Given the description of an element on the screen output the (x, y) to click on. 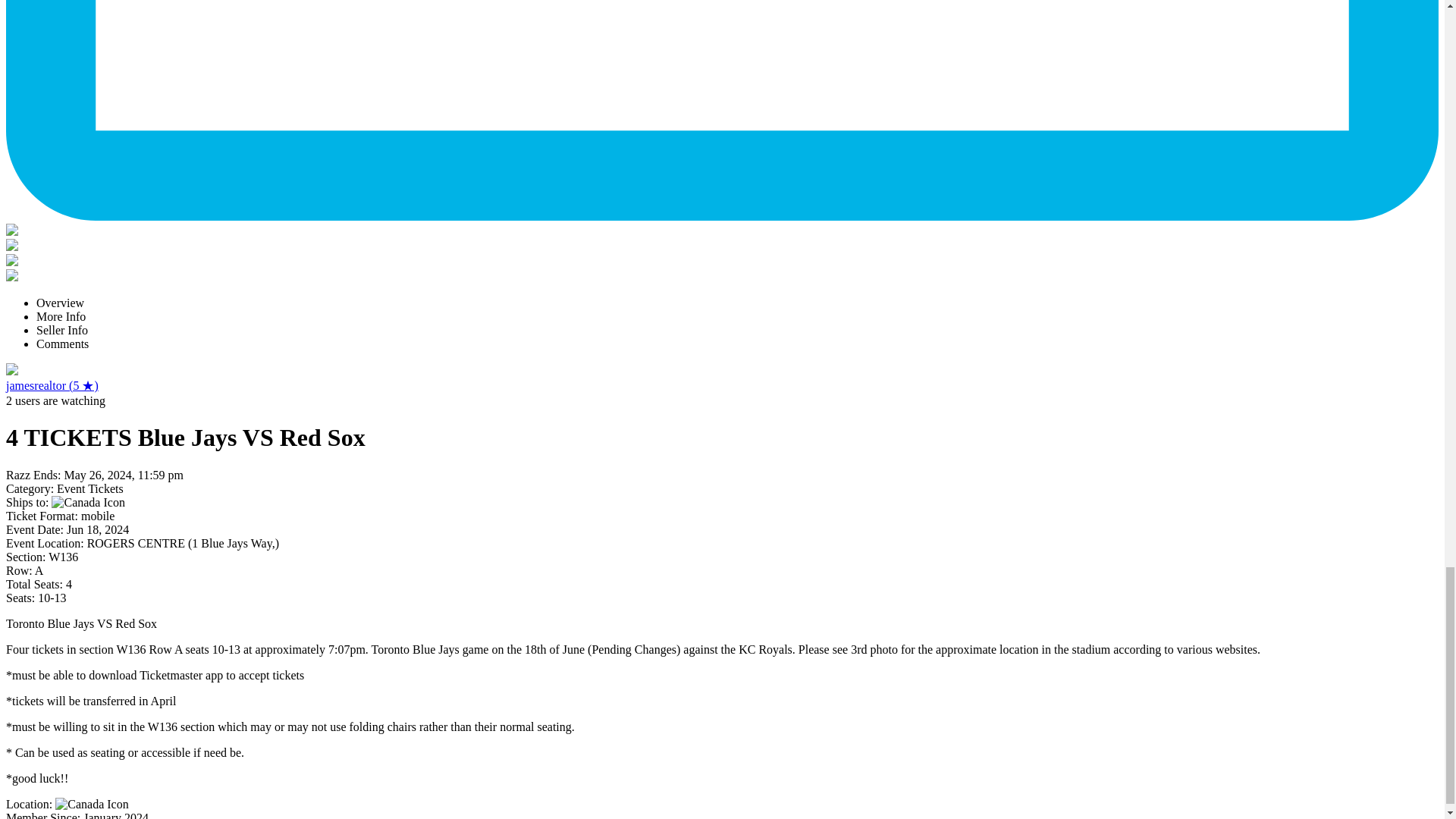
Overview (60, 302)
